Given the description of an element on the screen output the (x, y) to click on. 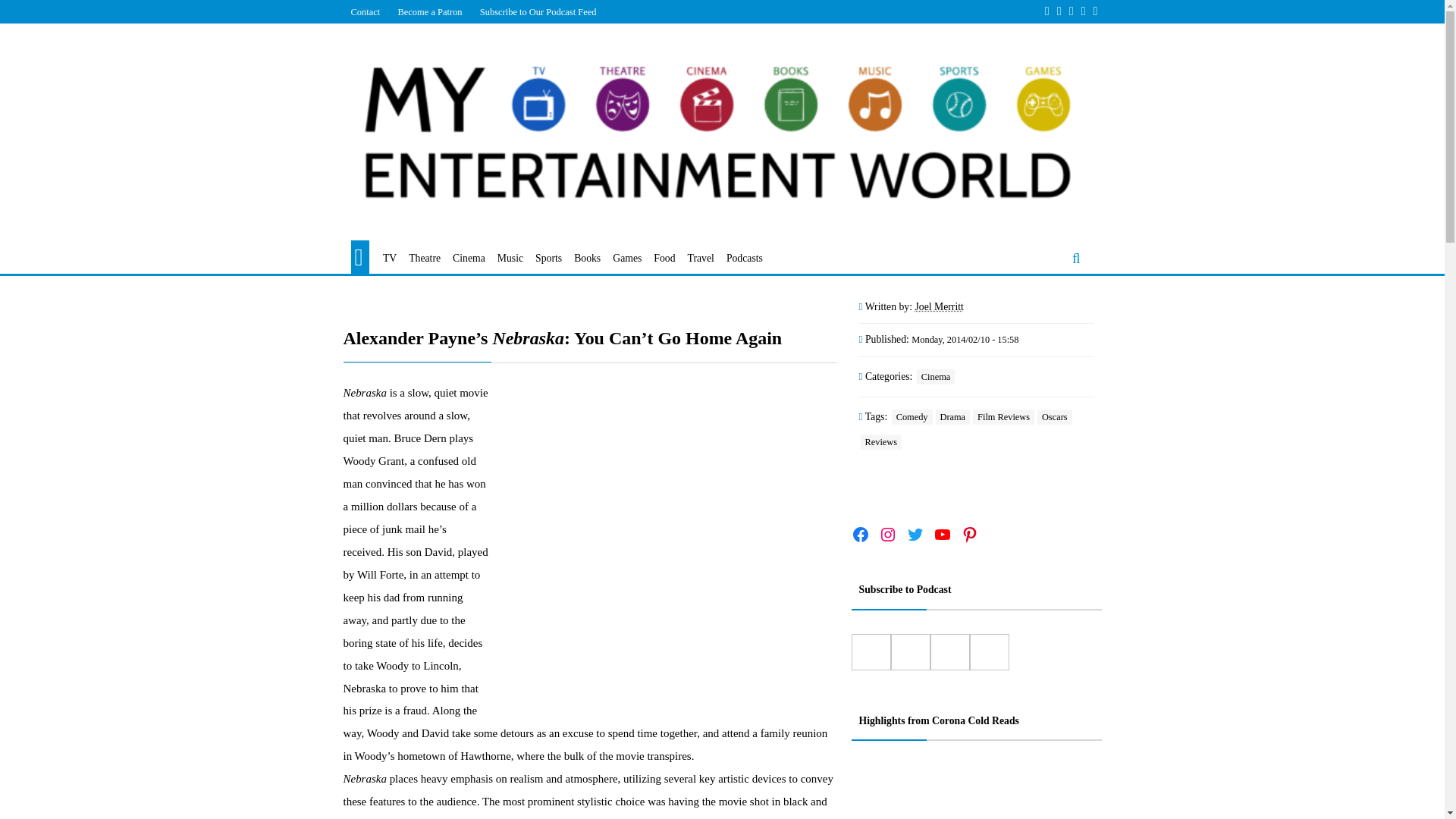
Subscribe by Email (949, 651)
Cinema (936, 376)
Travel (700, 258)
Cinema (468, 258)
Contact (364, 10)
Become a Patron (429, 10)
Subscribe on Android (909, 651)
Subscribe on Apple Podcasts (869, 651)
Food (664, 258)
Drama (953, 417)
